Given the description of an element on the screen output the (x, y) to click on. 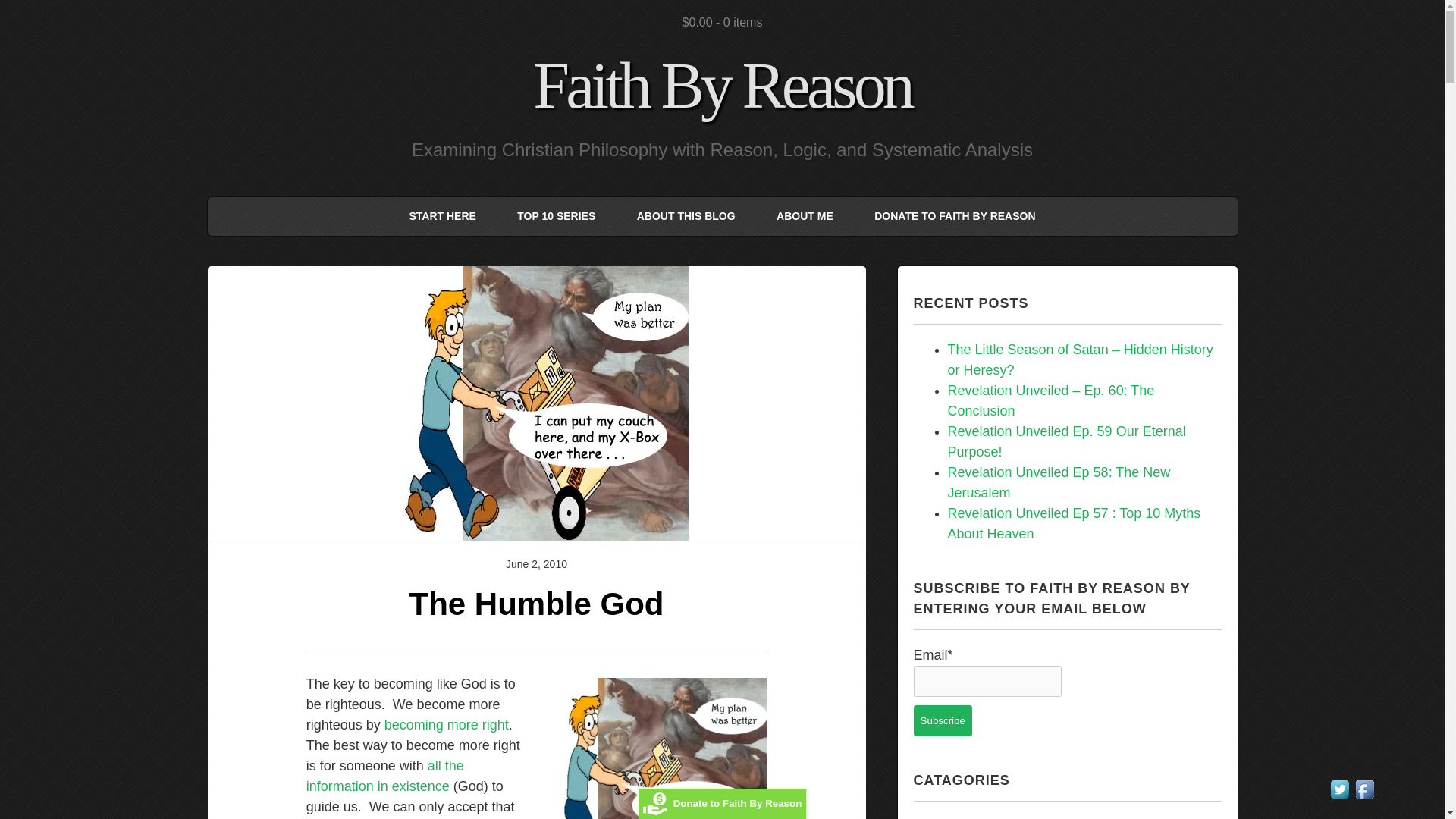
New Throne Room (652, 748)
START HERE (442, 216)
becoming more right (446, 724)
ABOUT THIS BLOG (685, 216)
DONATE TO FAITH BY REASON (955, 216)
The Principle Answer (384, 775)
Faith By Reason (721, 85)
TOP 10 SERIES (555, 216)
Faith By Reason (721, 85)
ABOUT ME (804, 216)
